Given the description of an element on the screen output the (x, y) to click on. 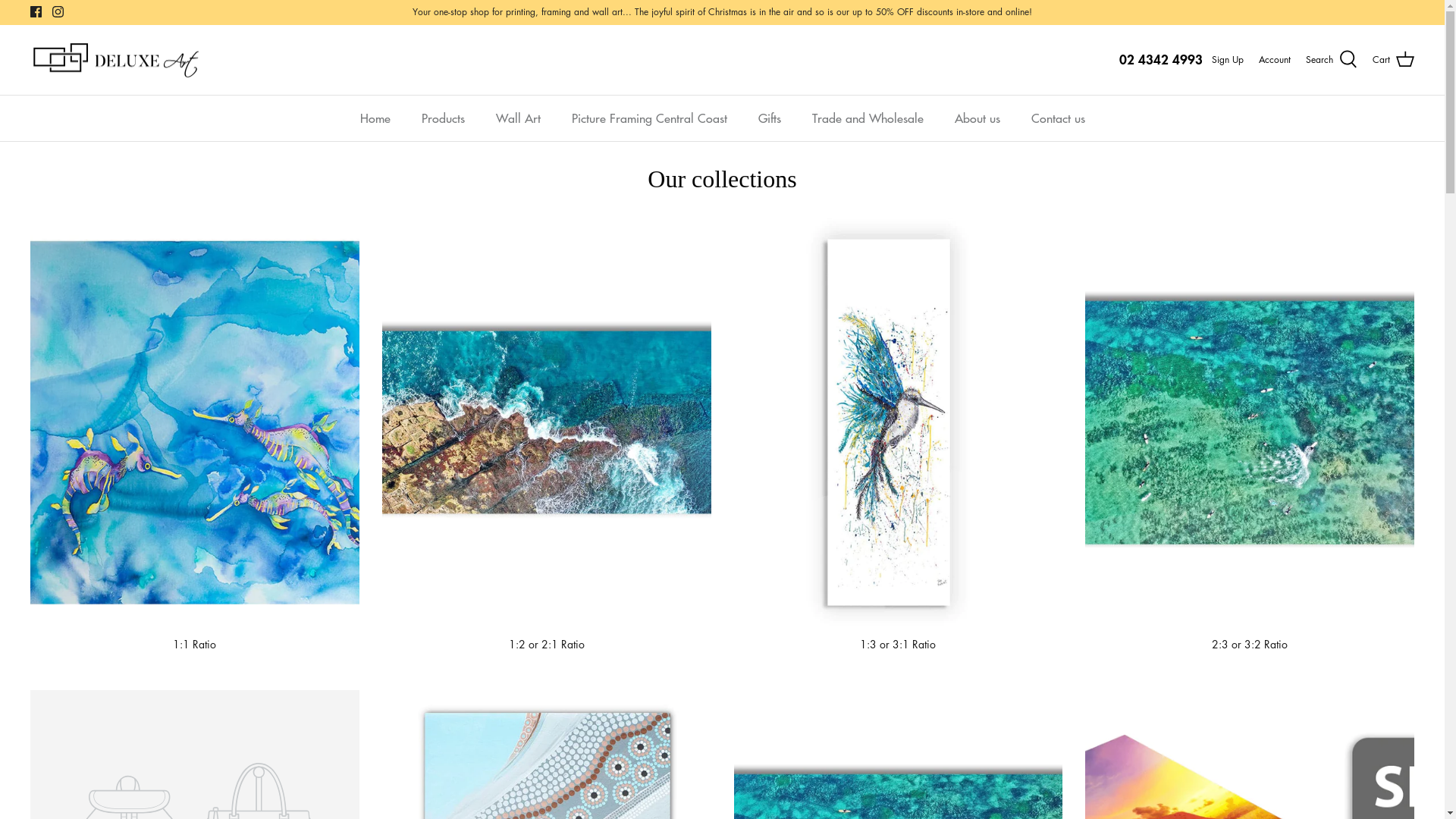
2:3 or 3:2 Ratio Element type: text (1249, 434)
Products Element type: text (442, 118)
Facebook Element type: text (35, 11)
Sign Up Element type: text (1227, 59)
1:3 or 3:1 Ratio Element type: text (898, 434)
Cart Element type: text (1393, 59)
Trade and Wholesale Element type: text (866, 118)
Account Element type: text (1274, 59)
About us Element type: text (976, 118)
Home Element type: text (374, 118)
02 4342 4993 Element type: text (1160, 59)
Wall Art Element type: text (518, 118)
Instagram Element type: text (57, 11)
Picture Framing Central Coast Element type: text (649, 118)
1:1 Ratio Element type: text (194, 434)
Deluxe Art Element type: hover (115, 60)
Contact us Element type: text (1057, 118)
1:2 or 2:1 Ratio Element type: text (546, 434)
Search Element type: text (1331, 59)
Gifts Element type: text (769, 118)
